Given the description of an element on the screen output the (x, y) to click on. 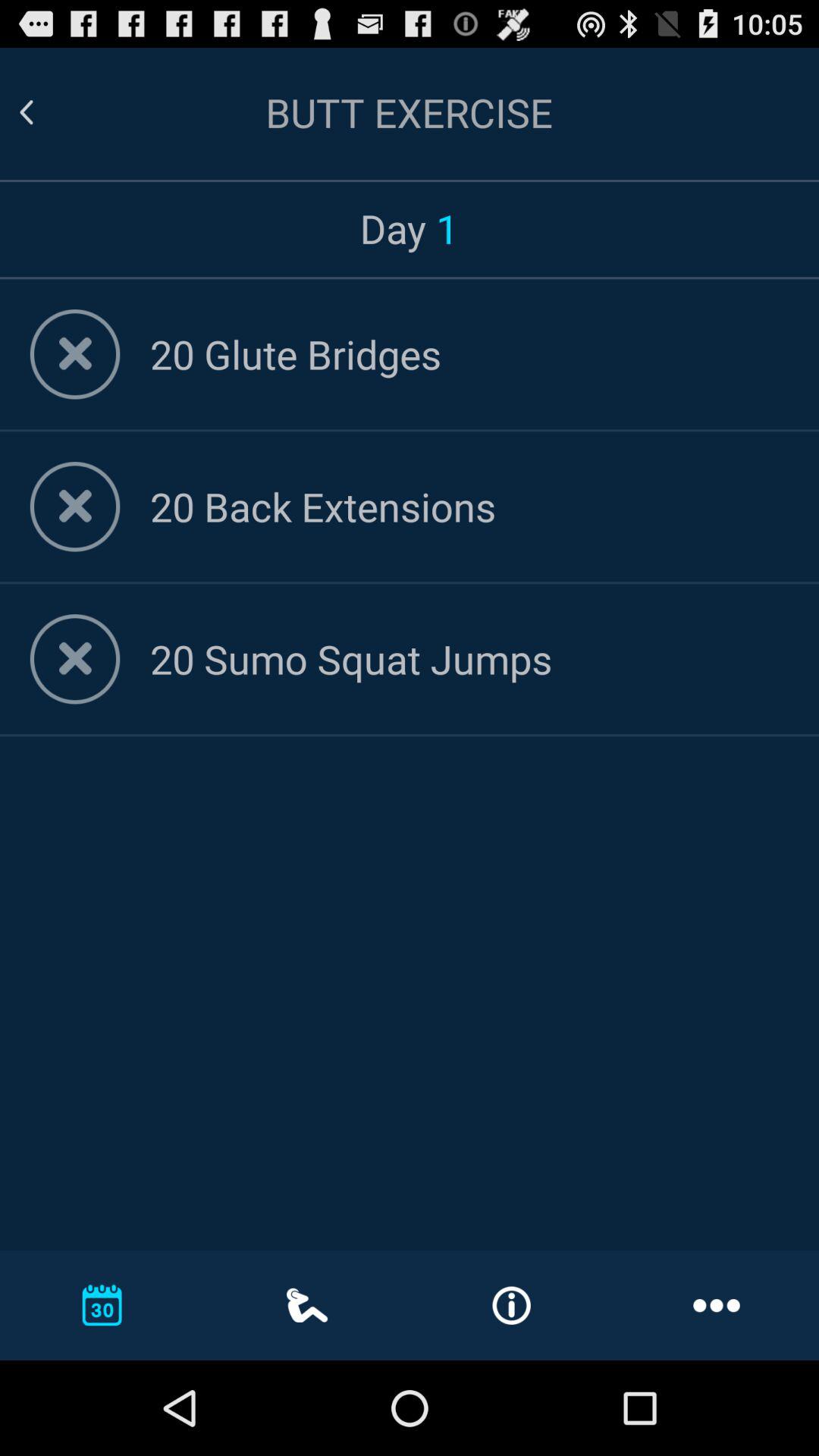
open the 20 glute bridges (469, 353)
